Given the description of an element on the screen output the (x, y) to click on. 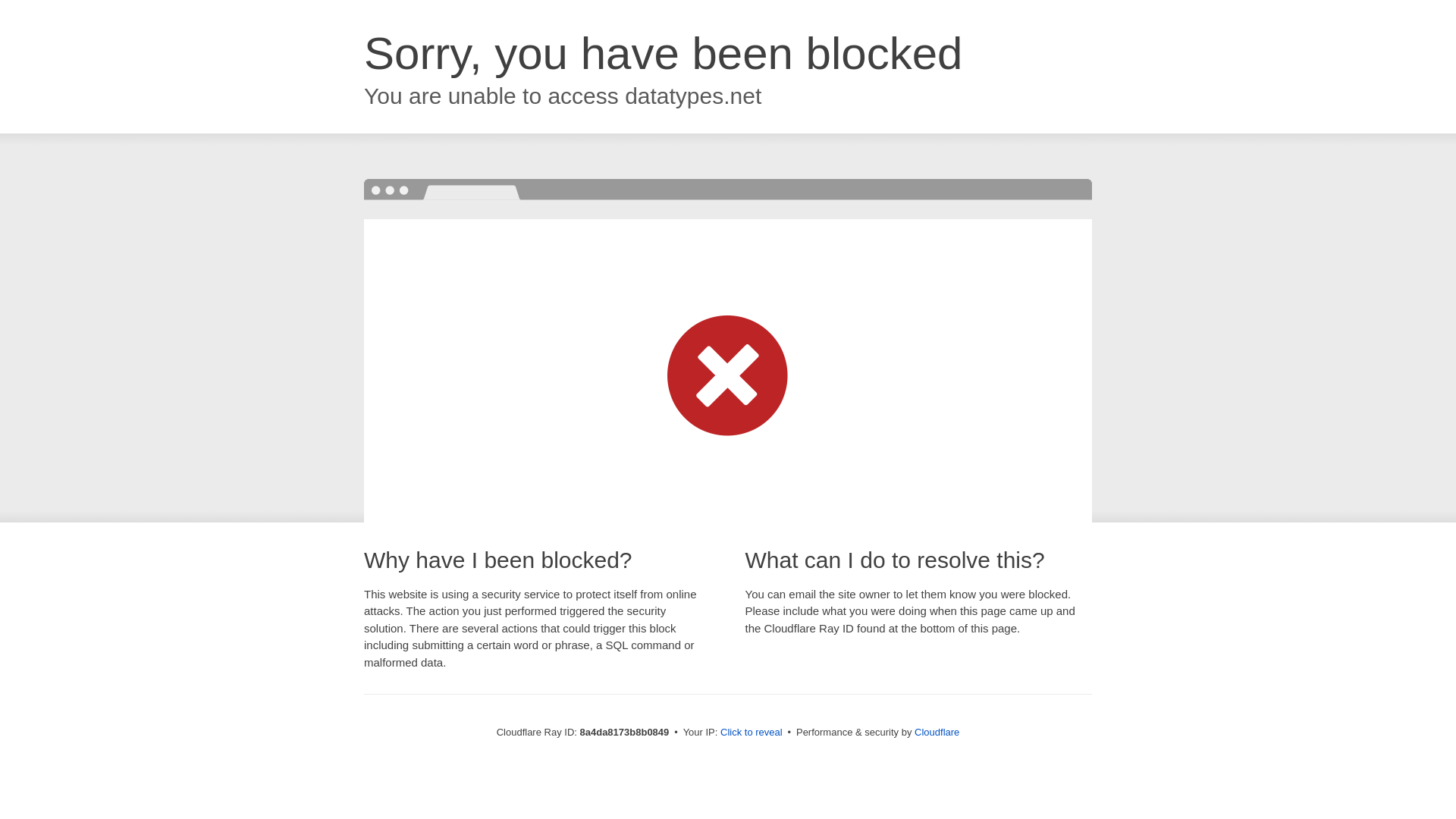
Cloudflare (936, 731)
Click to reveal (751, 732)
